Given the description of an element on the screen output the (x, y) to click on. 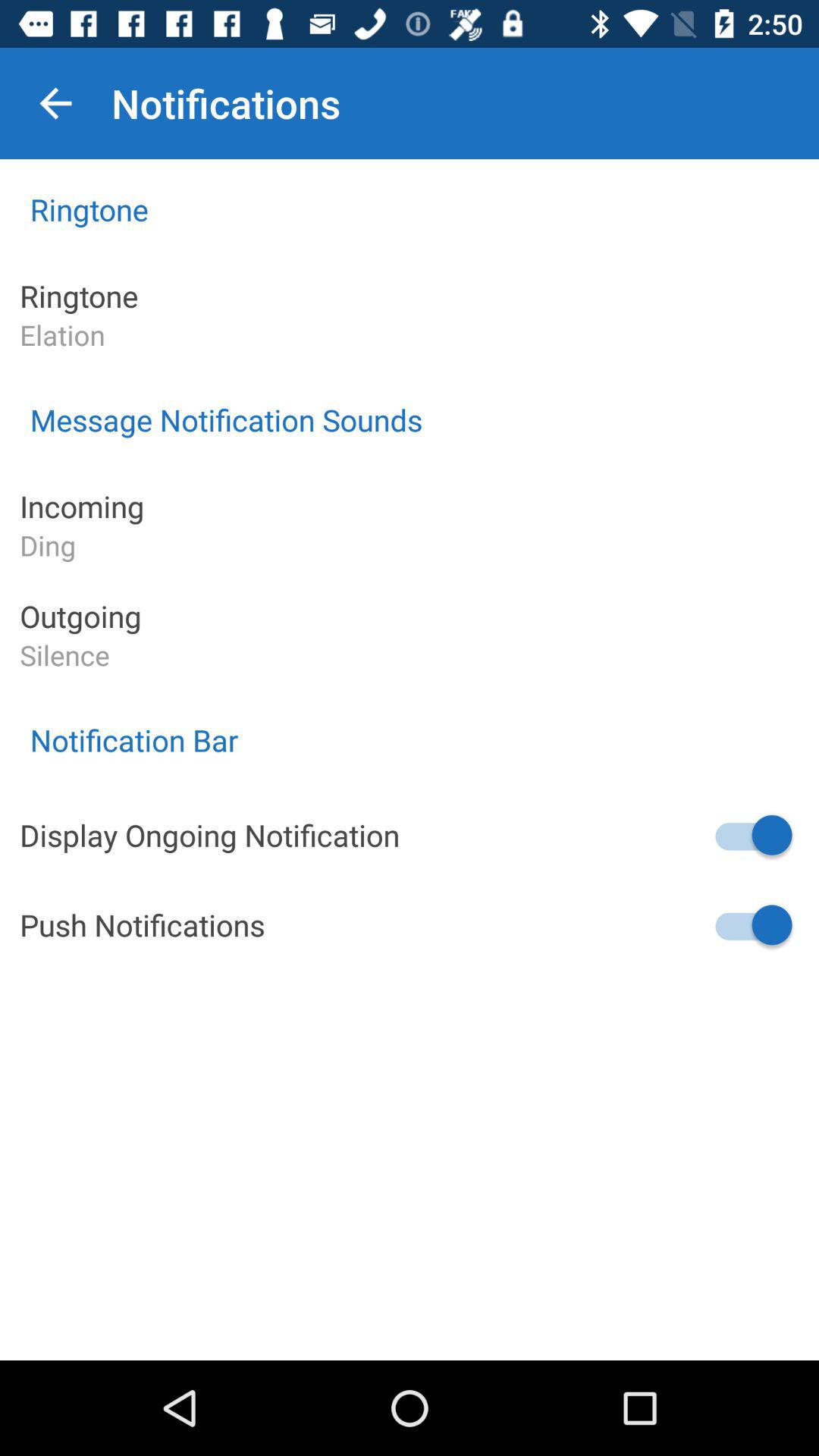
click the item above the ringtone item (55, 103)
